Given the description of an element on the screen output the (x, y) to click on. 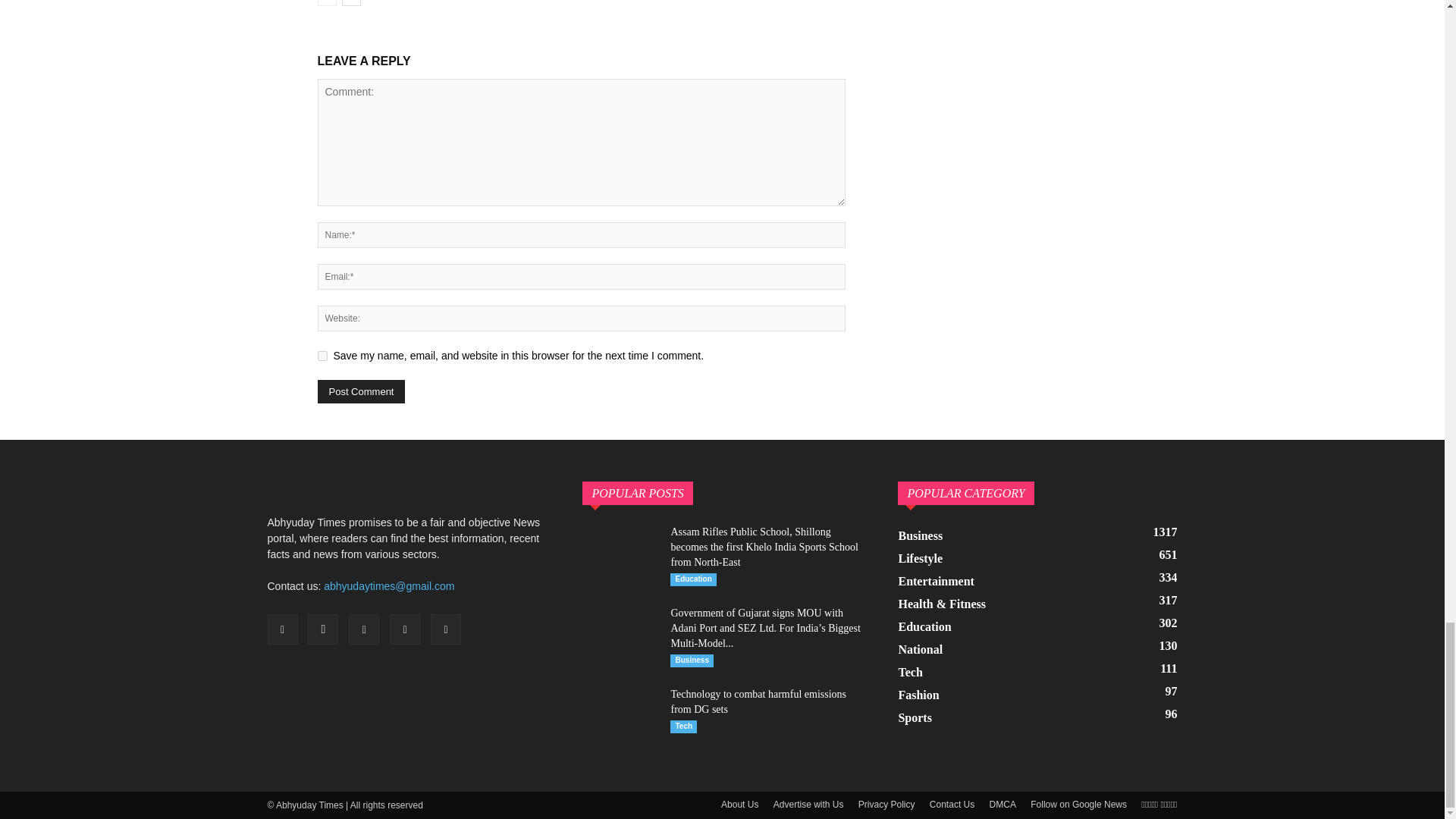
yes (321, 356)
Post Comment (360, 391)
